Given the description of an element on the screen output the (x, y) to click on. 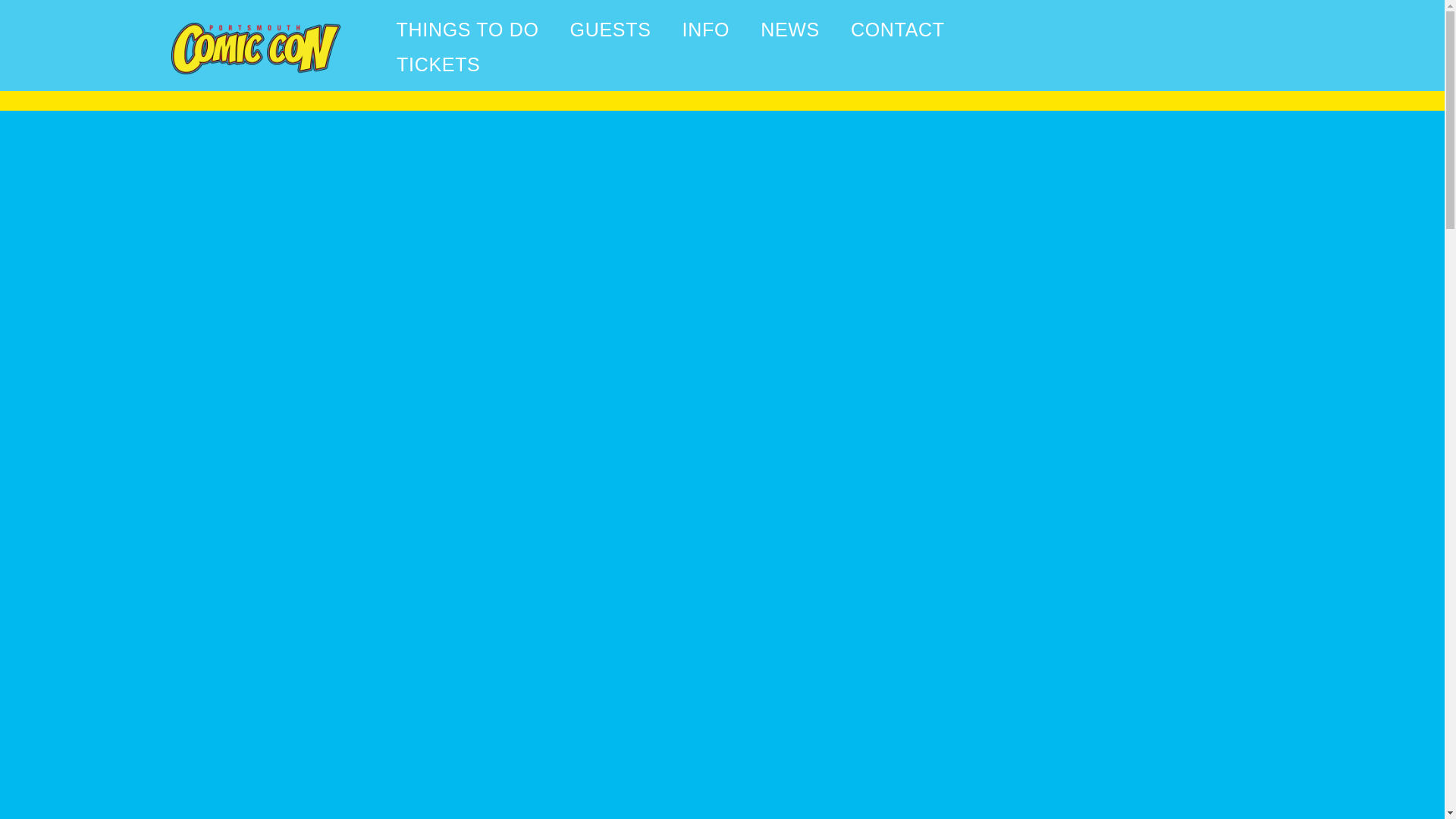
CONTACT (897, 29)
GUESTS (610, 29)
TICKETS (438, 63)
NEWS (789, 29)
INFO (705, 29)
THINGS TO DO (467, 29)
